Given the description of an element on the screen output the (x, y) to click on. 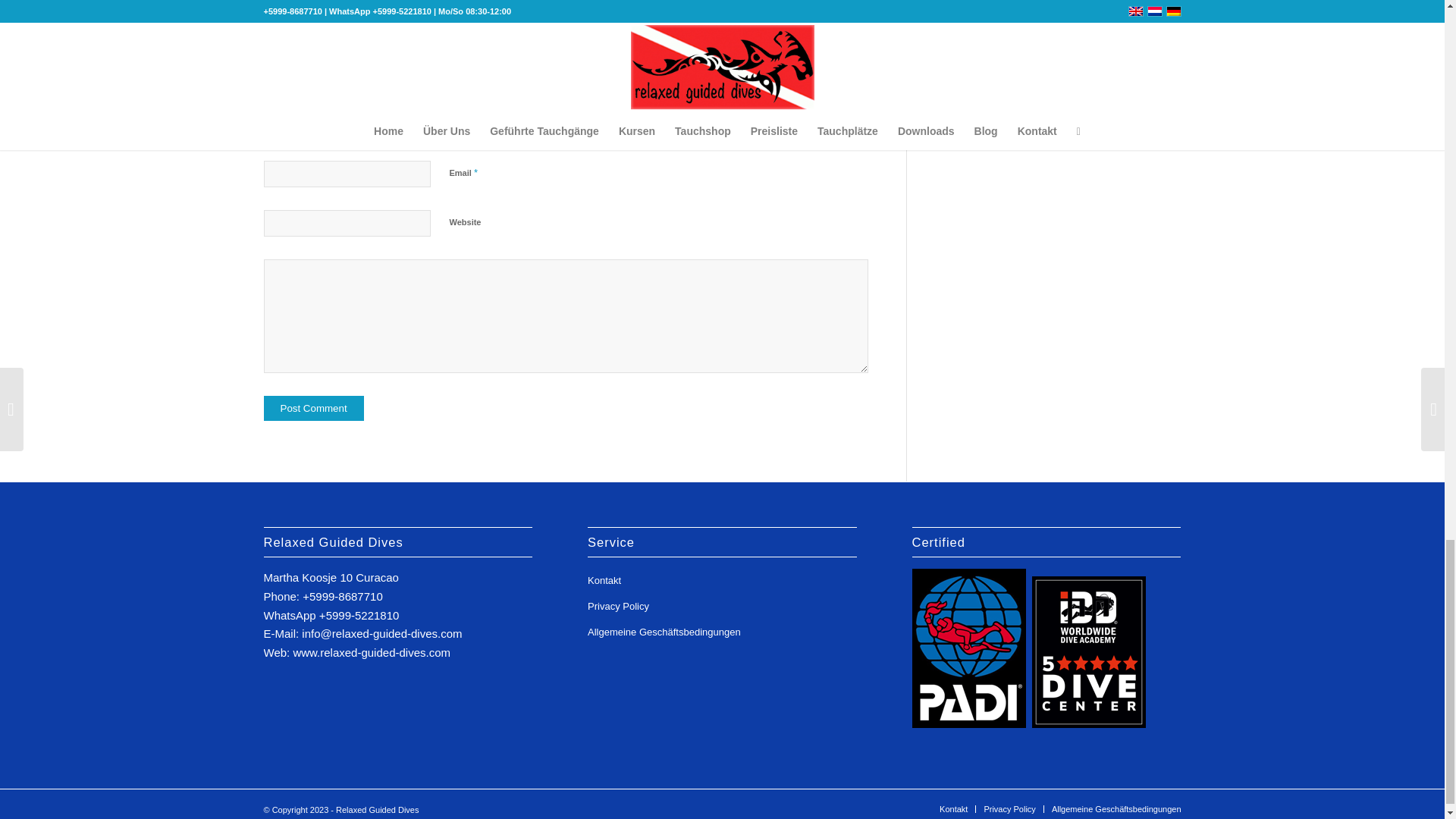
Post Comment (313, 407)
